Given the description of an element on the screen output the (x, y) to click on. 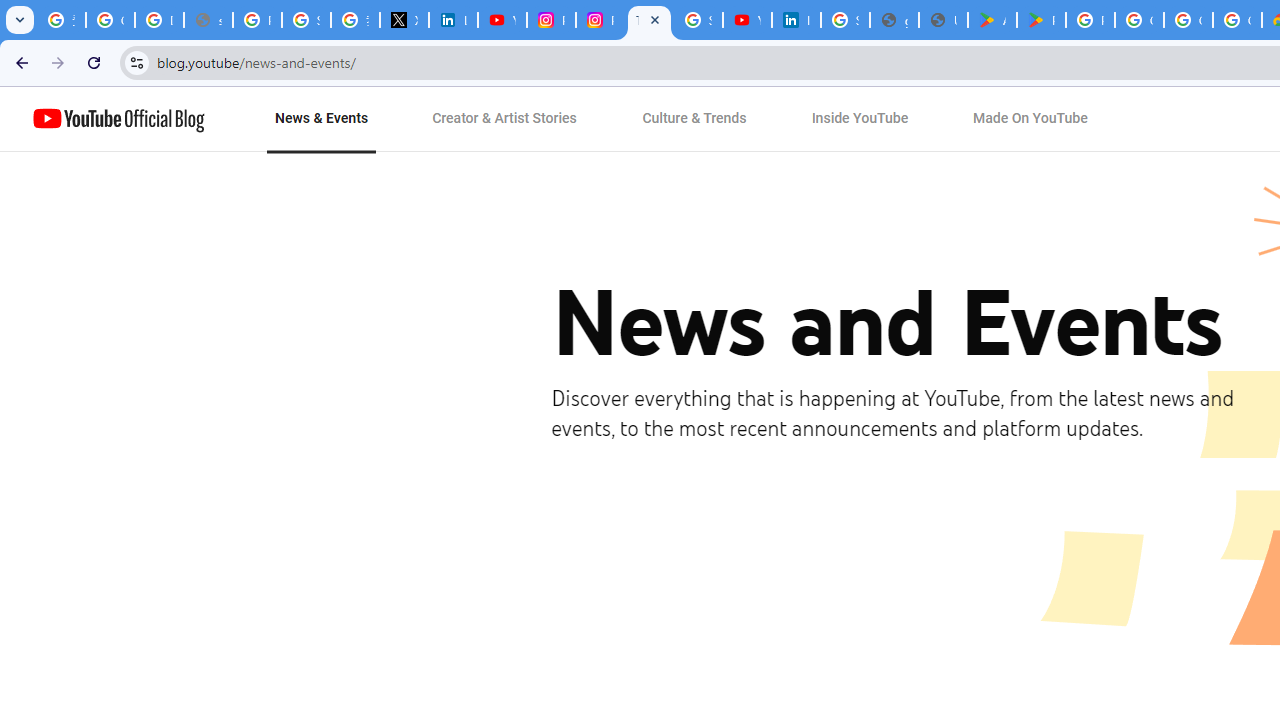
Sign in - Google Accounts (698, 20)
support.google.com - Network error (208, 20)
User Details (943, 20)
Made On YouTube (1030, 119)
Creator & Artist Stories (505, 119)
PAW Patrol Rescue World - Apps on Google Play (1041, 20)
